Given the description of an element on the screen output the (x, y) to click on. 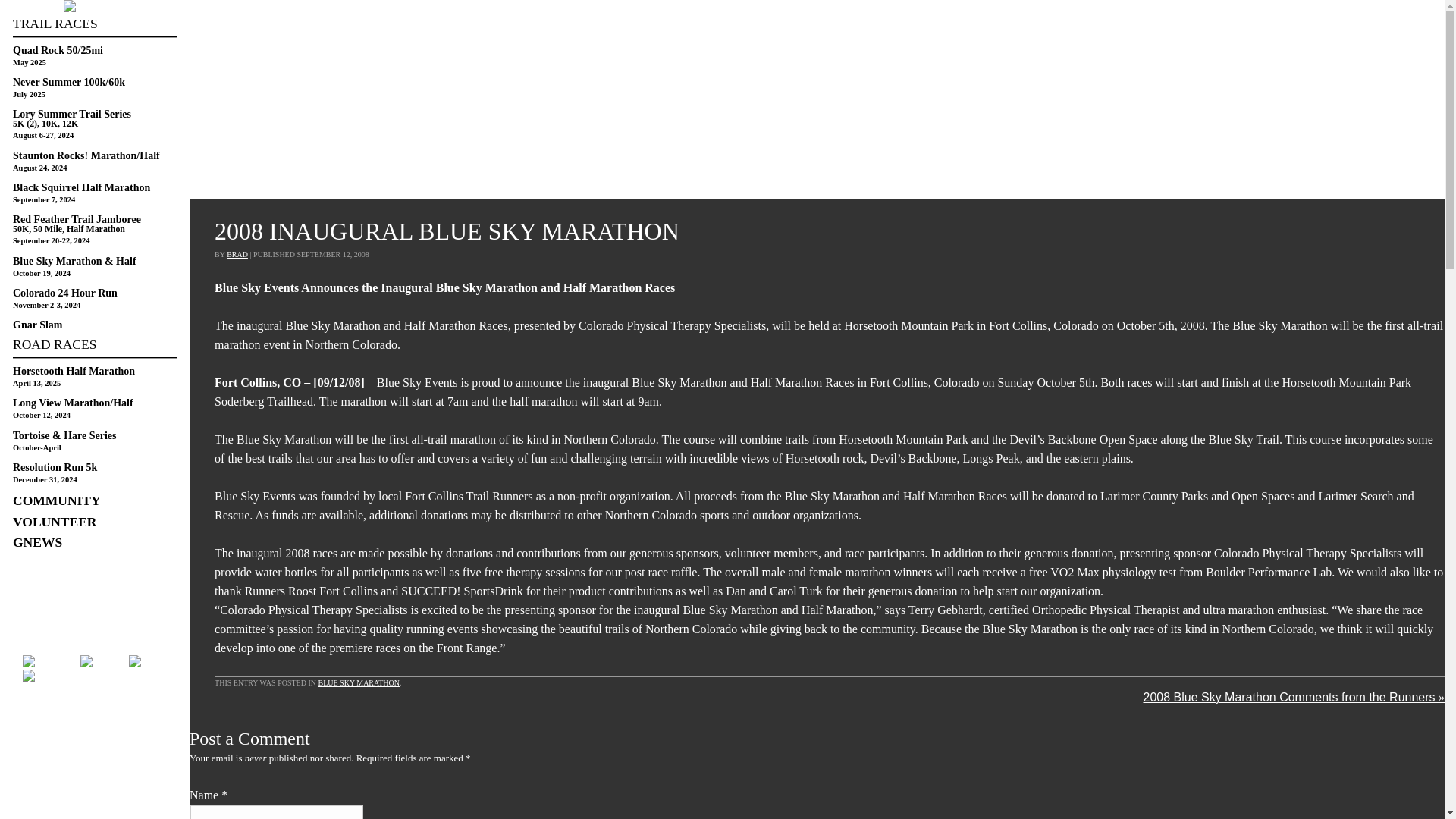
TRAIL RACES (94, 27)
Gnar Runners (94, 6)
